Given the description of an element on the screen output the (x, y) to click on. 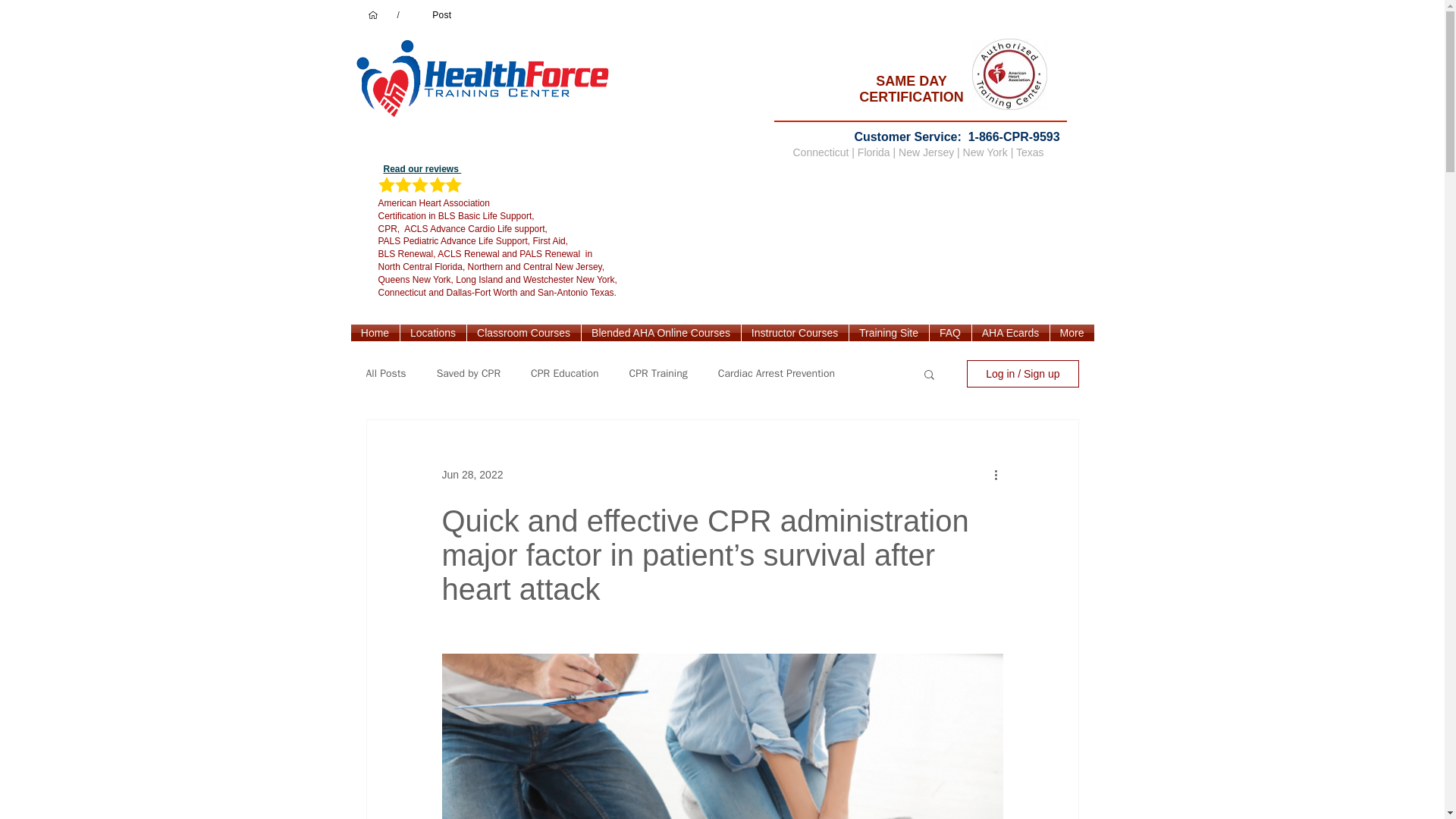
HealthForce Training Center Logo (486, 84)
Jun 28, 2022 (471, 474)
Read our reviews  (422, 168)
Home (374, 332)
Post (441, 15)
Classroom Courses (523, 332)
AHA Authorized Training Center (1009, 73)
Blended AHA Online Courses (659, 332)
